Given the description of an element on the screen output the (x, y) to click on. 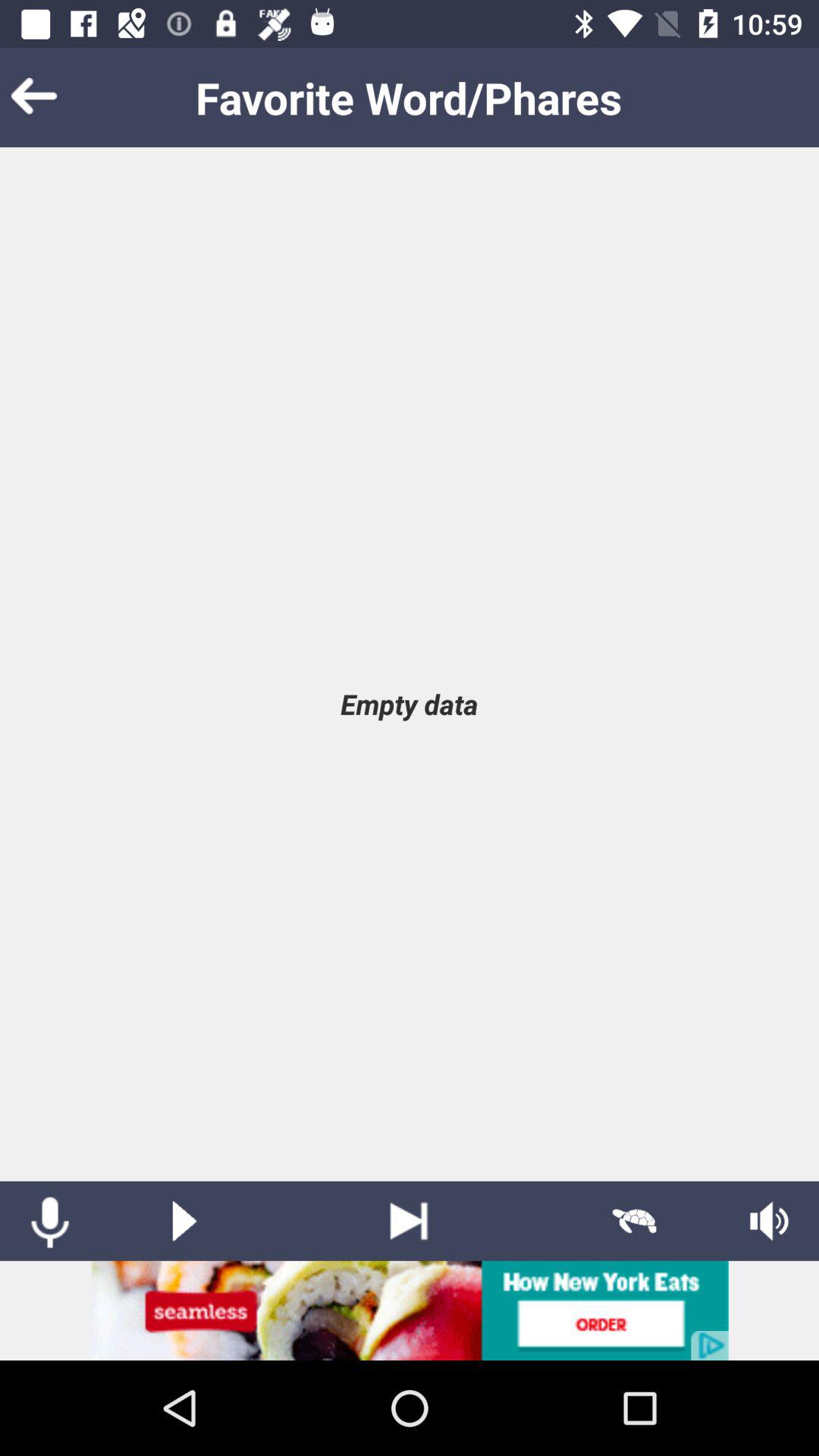
slow mode activation (634, 1220)
